Given the description of an element on the screen output the (x, y) to click on. 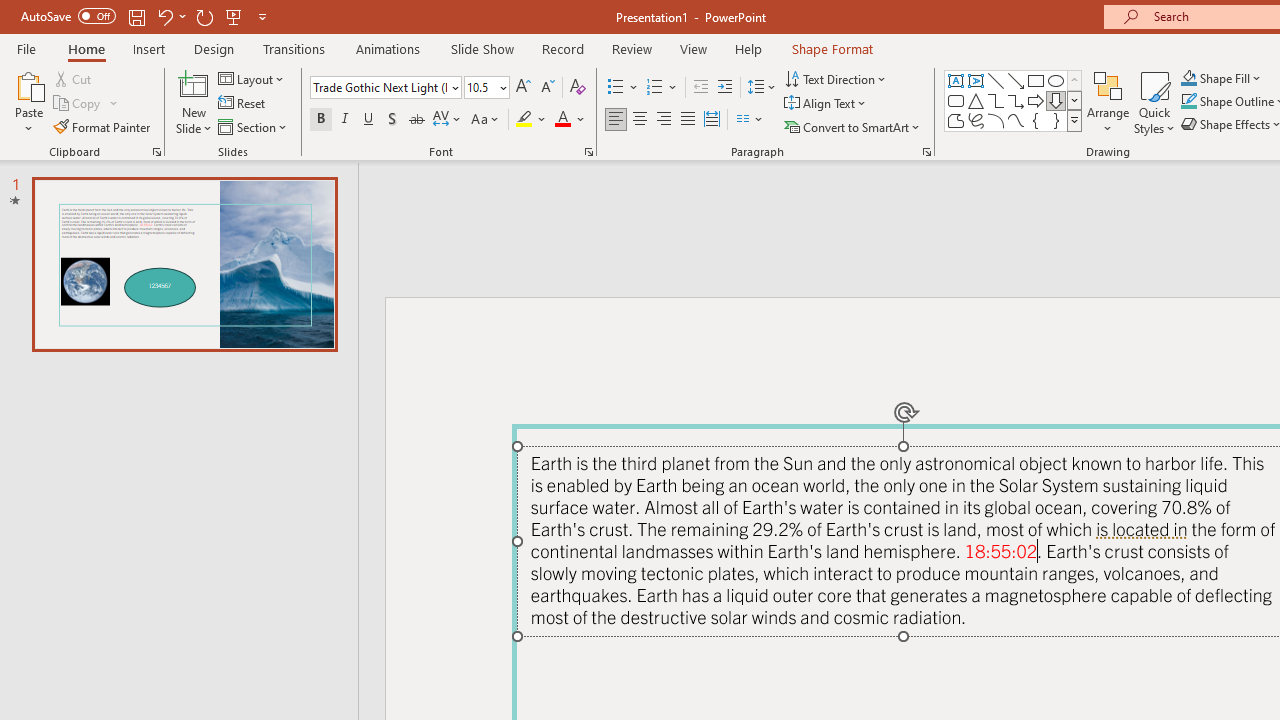
Increase Indent (725, 87)
Center (639, 119)
Numbering (654, 87)
Align Right (663, 119)
Isosceles Triangle (975, 100)
Class: NetUIImage (1075, 120)
Align Text (826, 103)
Text Direction (836, 78)
Freeform: Scribble (975, 120)
Cut (73, 78)
Shadow (392, 119)
Line (995, 80)
Open (502, 87)
